Given the description of an element on the screen output the (x, y) to click on. 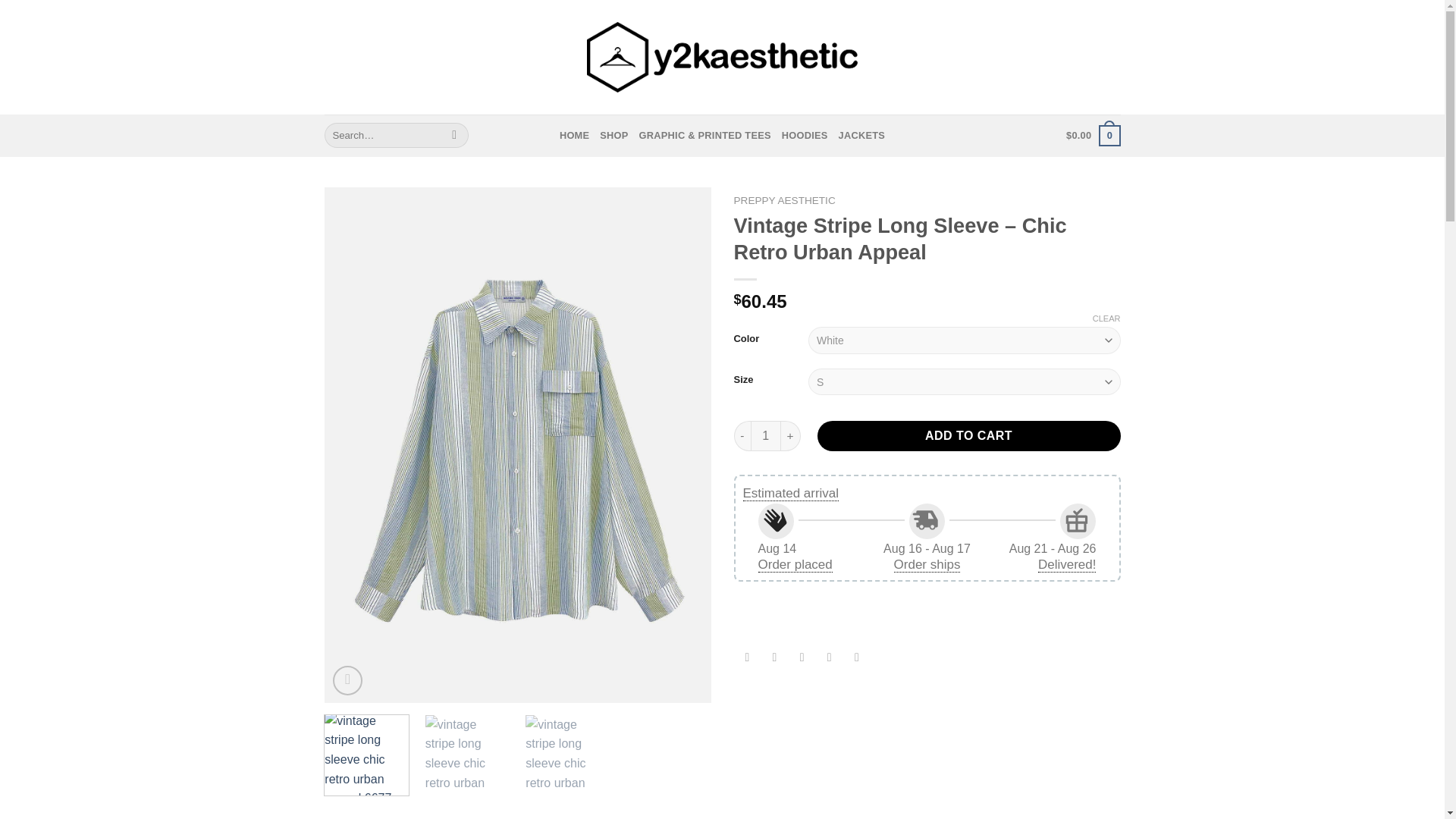
ADD TO CART (968, 435)
SHOP (613, 135)
Search (454, 135)
Share on Twitter (774, 659)
Cart (1092, 135)
Zoom (347, 680)
Qty (765, 435)
PREPPY AESTHETIC (784, 200)
HOME (574, 135)
1 (765, 435)
